Given the description of an element on the screen output the (x, y) to click on. 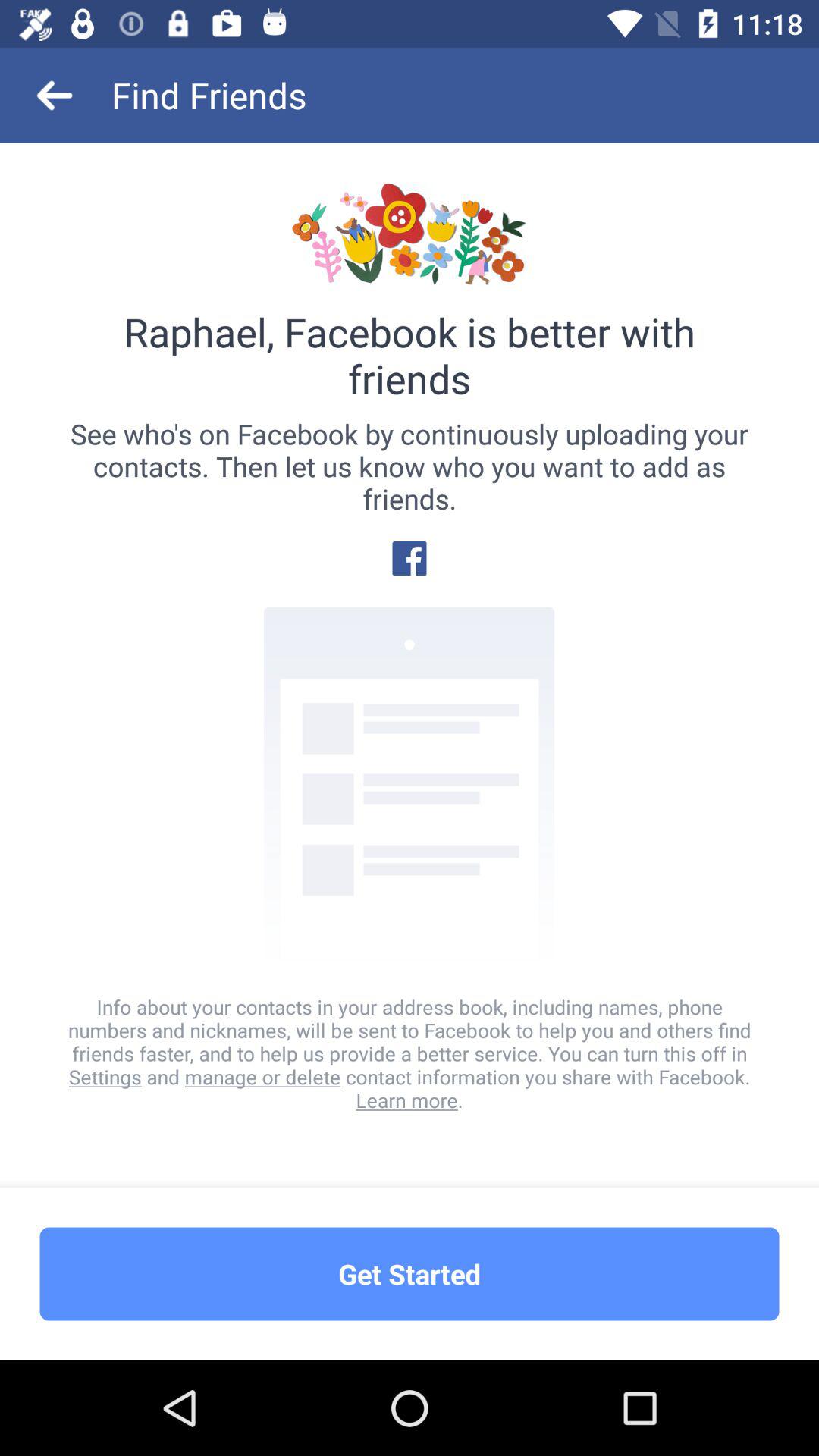
select icon next to find friends item (55, 95)
